Given the description of an element on the screen output the (x, y) to click on. 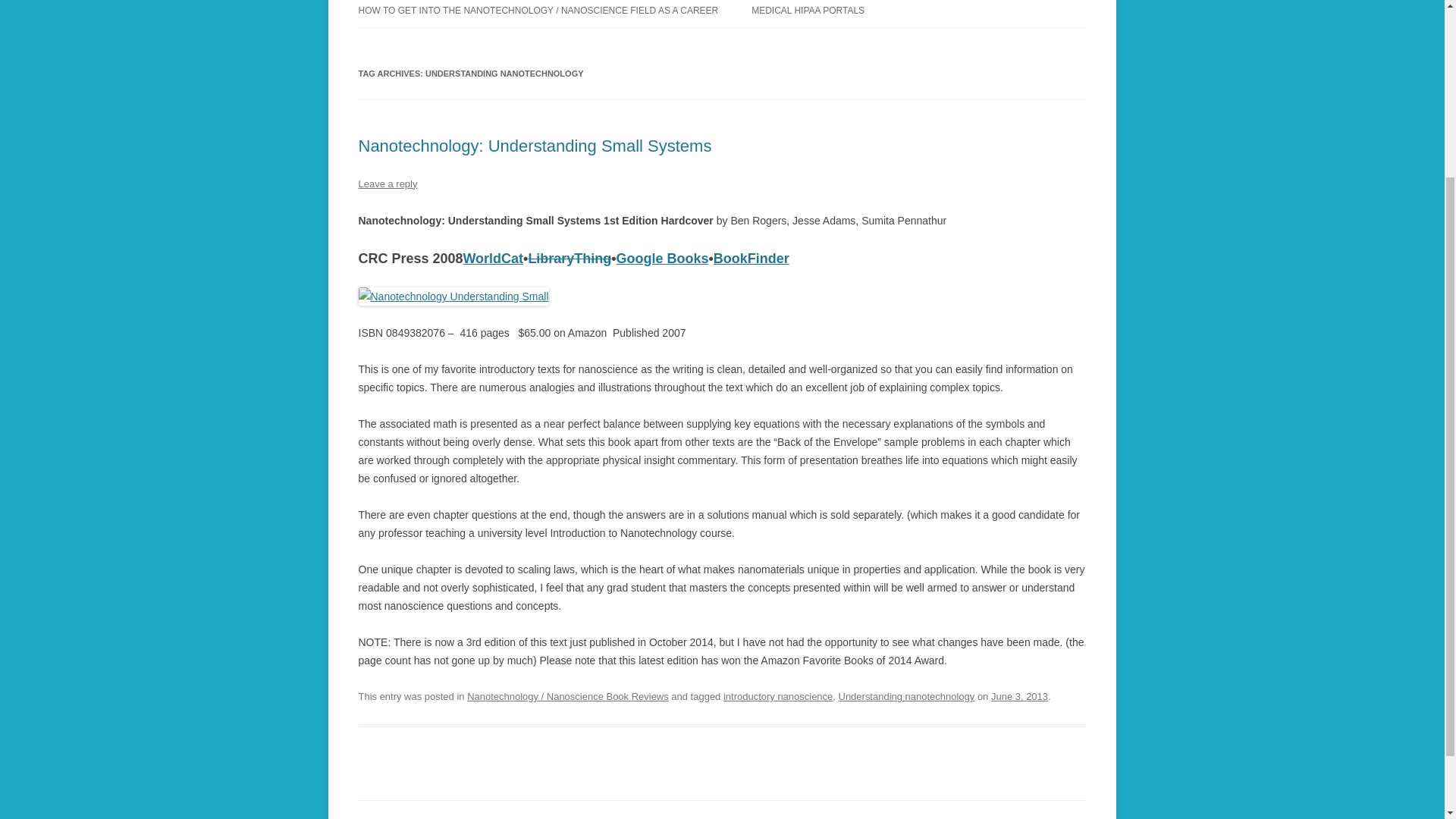
Search for the best price at BookFinder (751, 257)
View this title at WorldCat (492, 257)
6:12 pm (1019, 696)
Understanding nanotechnology (906, 696)
View this title at LibraryThing (569, 257)
WorldCat (492, 257)
Google Books (662, 257)
Leave a reply (387, 183)
MEDICAL HIPAA PORTALS (807, 13)
View this title at Google Books (662, 257)
LibraryThing (569, 257)
June 3, 2013 (1019, 696)
introductory nanoscience (777, 696)
Nanotechnology: Understanding Small Systems (534, 145)
BookFinder (751, 257)
